Given the description of an element on the screen output the (x, y) to click on. 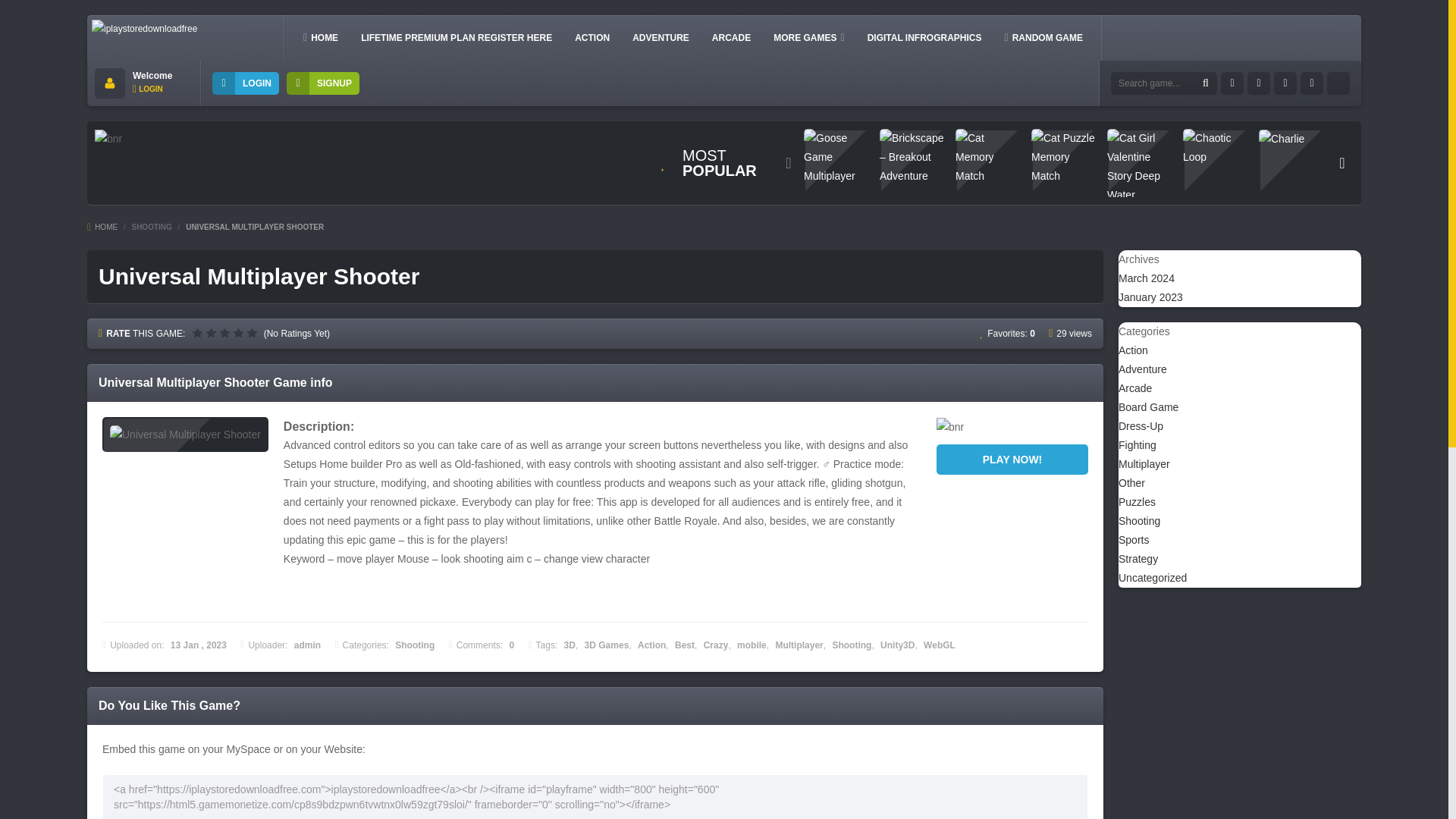
LOGIN (147, 89)
iplaystoredownloadfree (143, 28)
ARCADE (731, 37)
LIFETIME PREMIUM PLAN REGISTER HERE (456, 37)
HOME (320, 37)
Search (1205, 83)
RANDOM GAME (1043, 37)
DIGITAL INFROGRAPHICS (925, 37)
Facebook (1232, 83)
SIGNUP (322, 83)
ADVENTURE (660, 37)
ACTION (592, 37)
Feed (1337, 83)
LOGIN (245, 83)
Twitter (1258, 83)
